Given the description of an element on the screen output the (x, y) to click on. 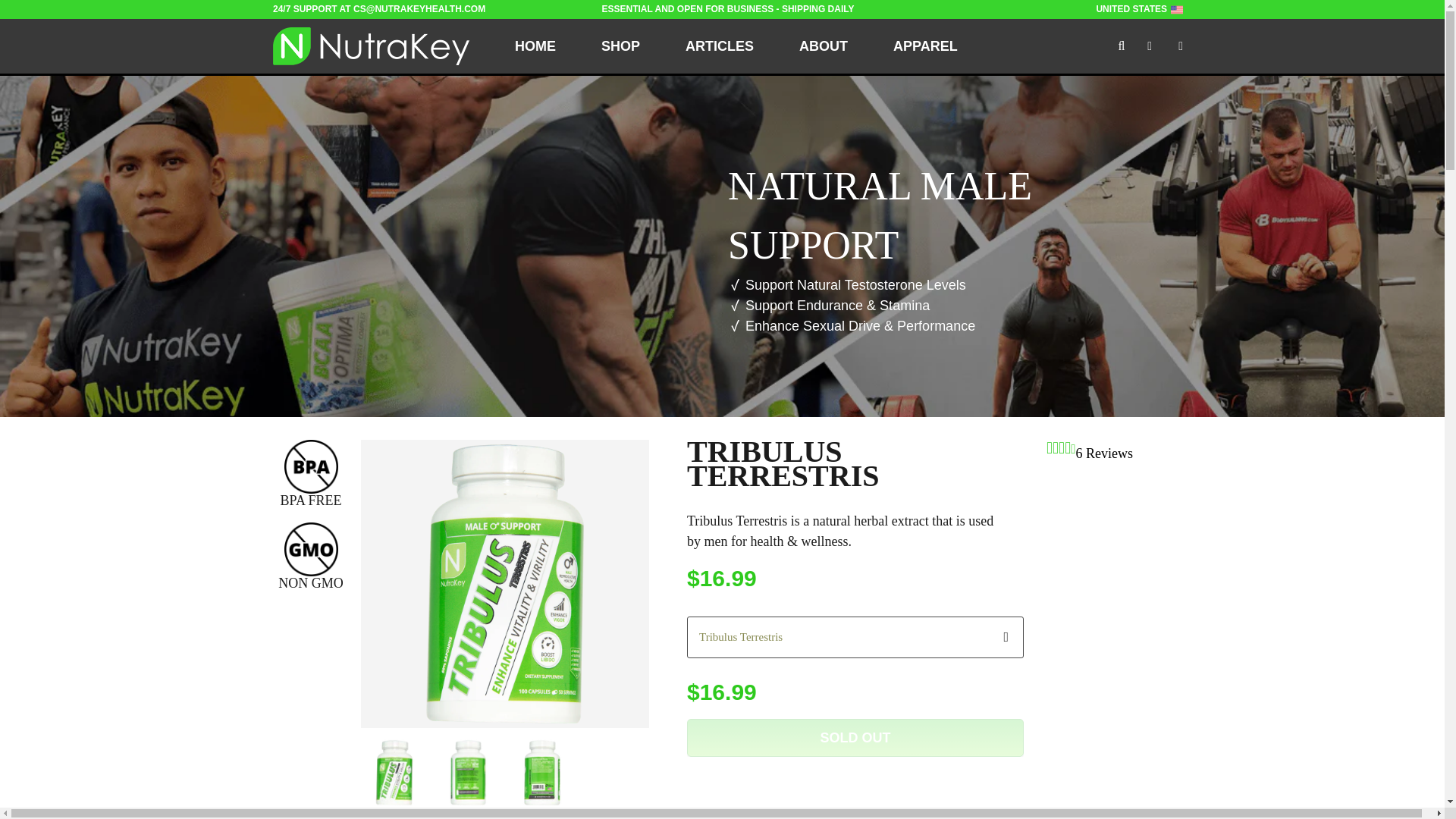
ESSENTIAL AND OPEN FOR BUSINESS - SHIPPING DAILY (728, 9)
HOME (535, 46)
SHOP (620, 46)
Home (535, 46)
NutraKey (370, 46)
Shop (620, 46)
NutraKey (370, 46)
